Given the description of an element on the screen output the (x, y) to click on. 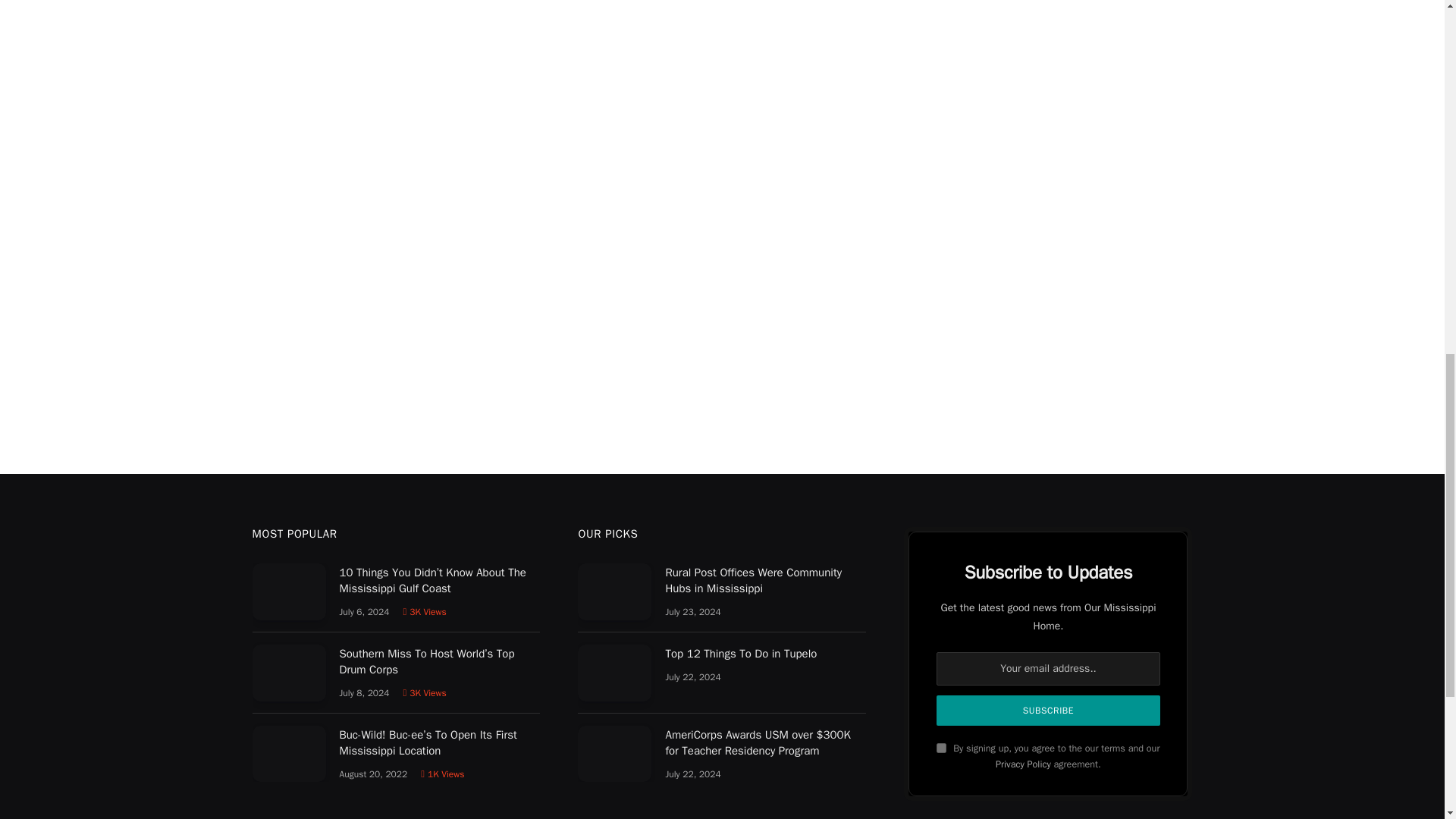
on (941, 747)
Subscribe (1047, 710)
